Given the description of an element on the screen output the (x, y) to click on. 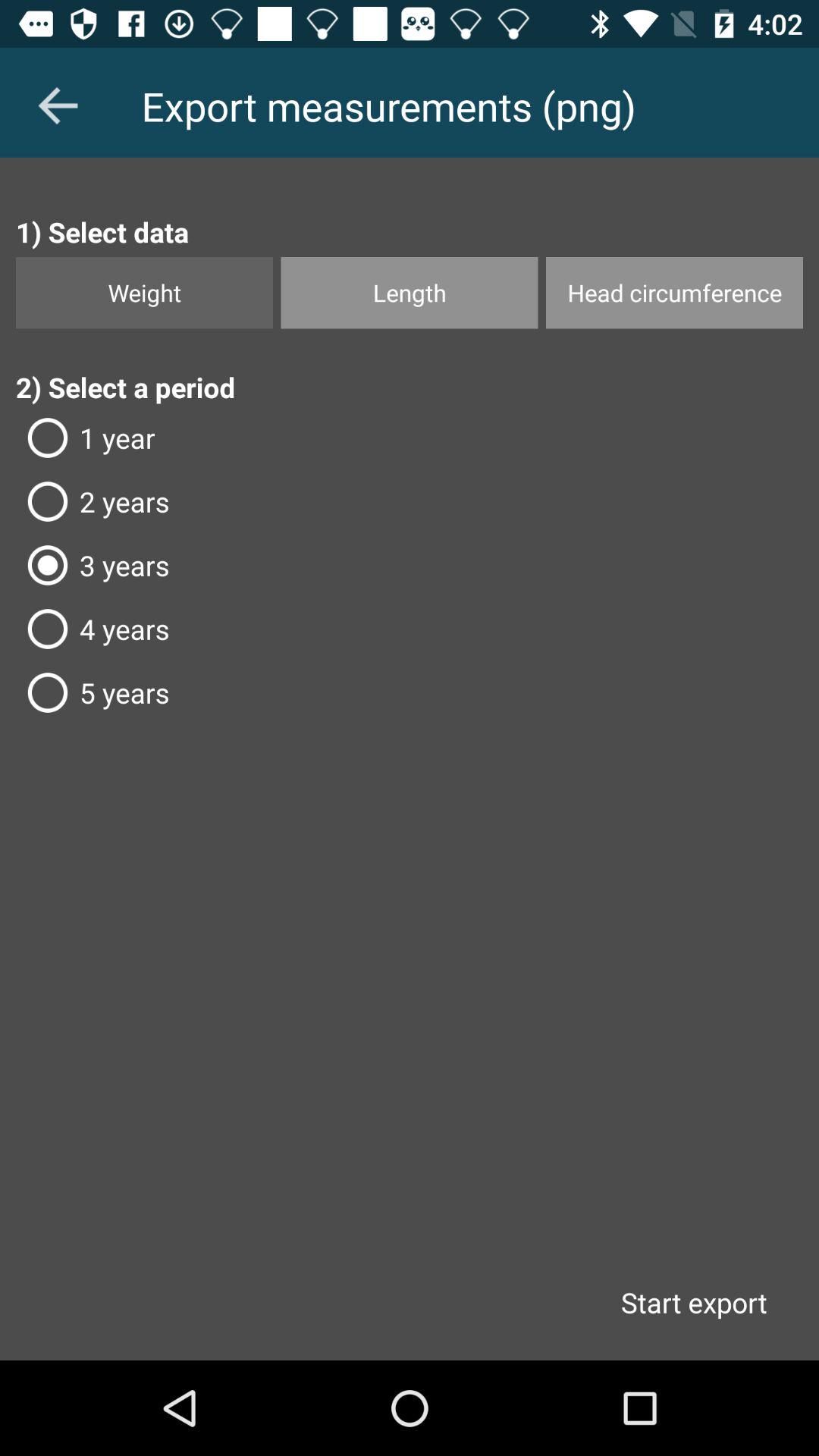
swipe to start export item (694, 1302)
